Given the description of an element on the screen output the (x, y) to click on. 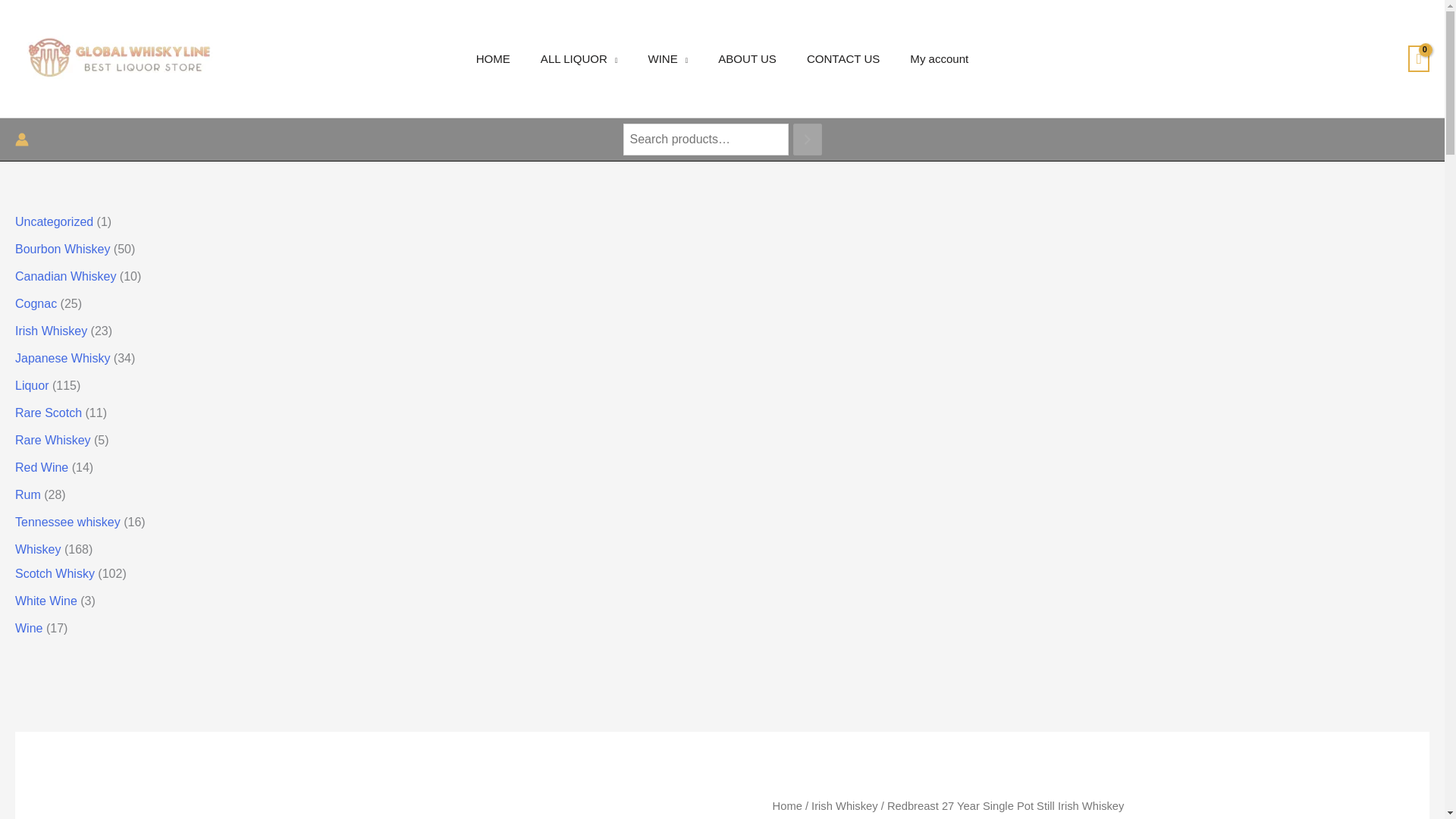
WINE (667, 58)
ALL LIQUOR (579, 58)
CONTACT US (843, 58)
My account (939, 58)
ABOUT US (747, 58)
HOME (493, 58)
